Given the description of an element on the screen output the (x, y) to click on. 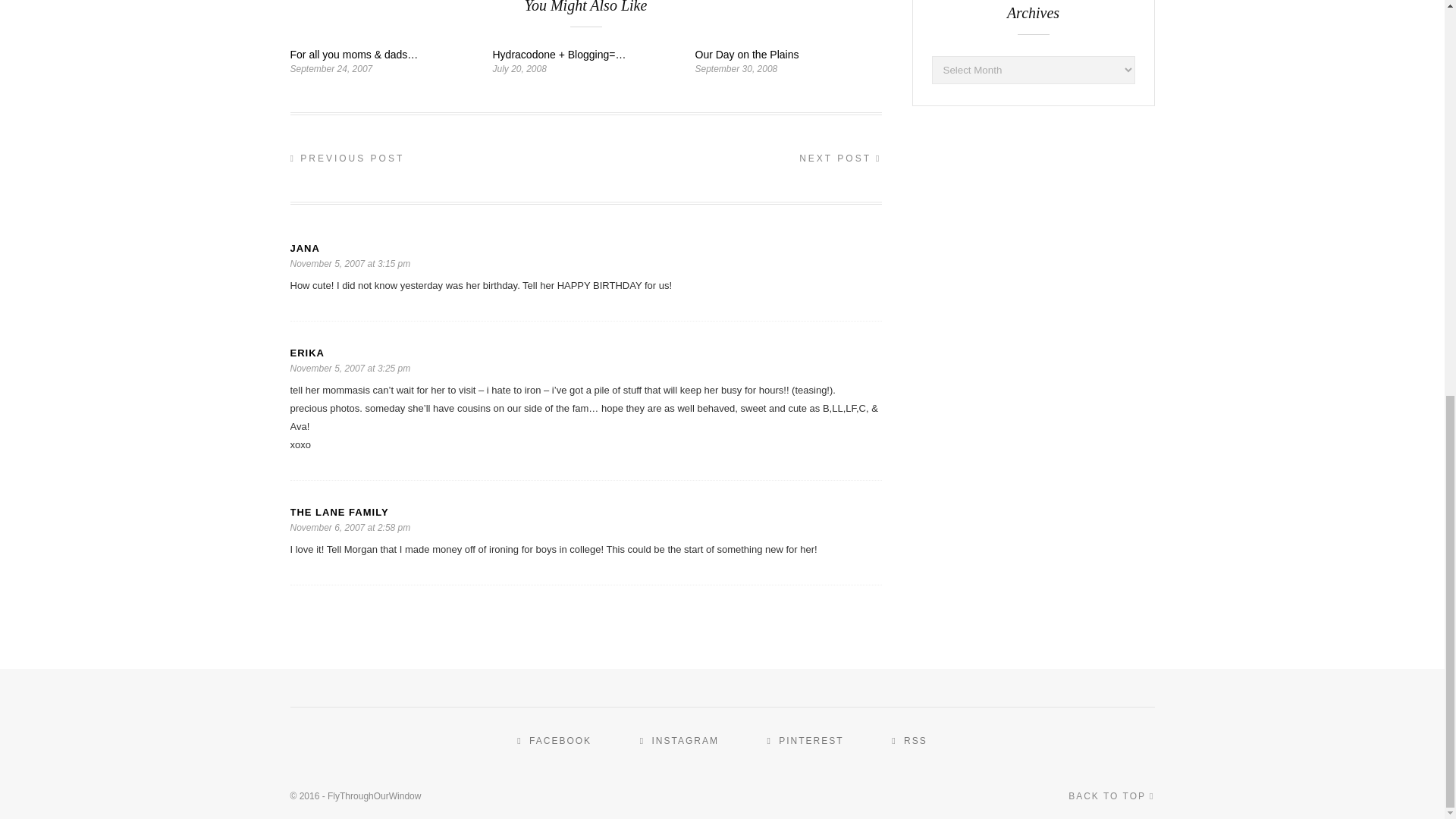
Our Day on the Plains (745, 54)
PREVIOUS POST (346, 158)
NEXT POST (839, 158)
